Given the description of an element on the screen output the (x, y) to click on. 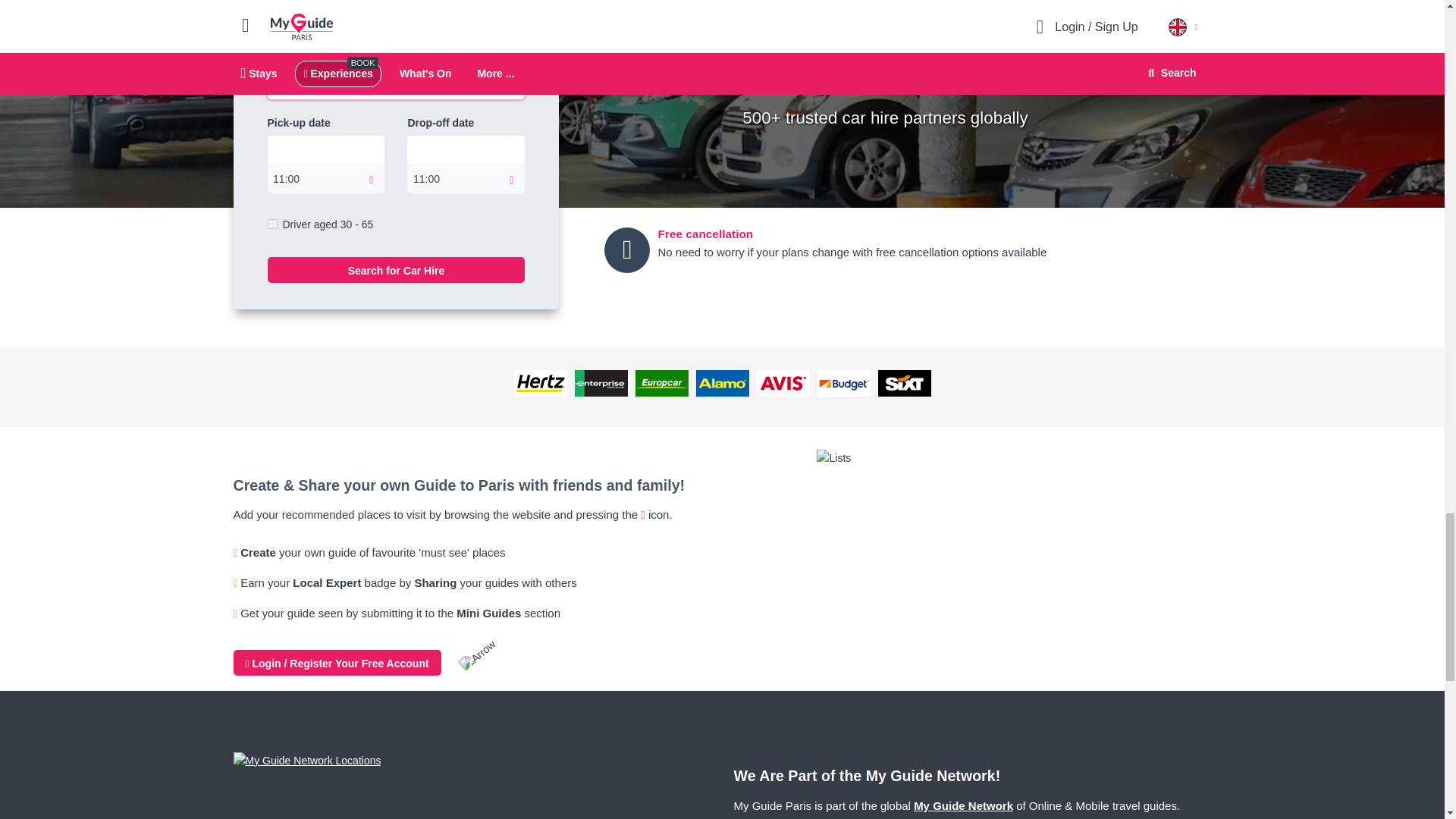
on (271, 224)
